Given the description of an element on the screen output the (x, y) to click on. 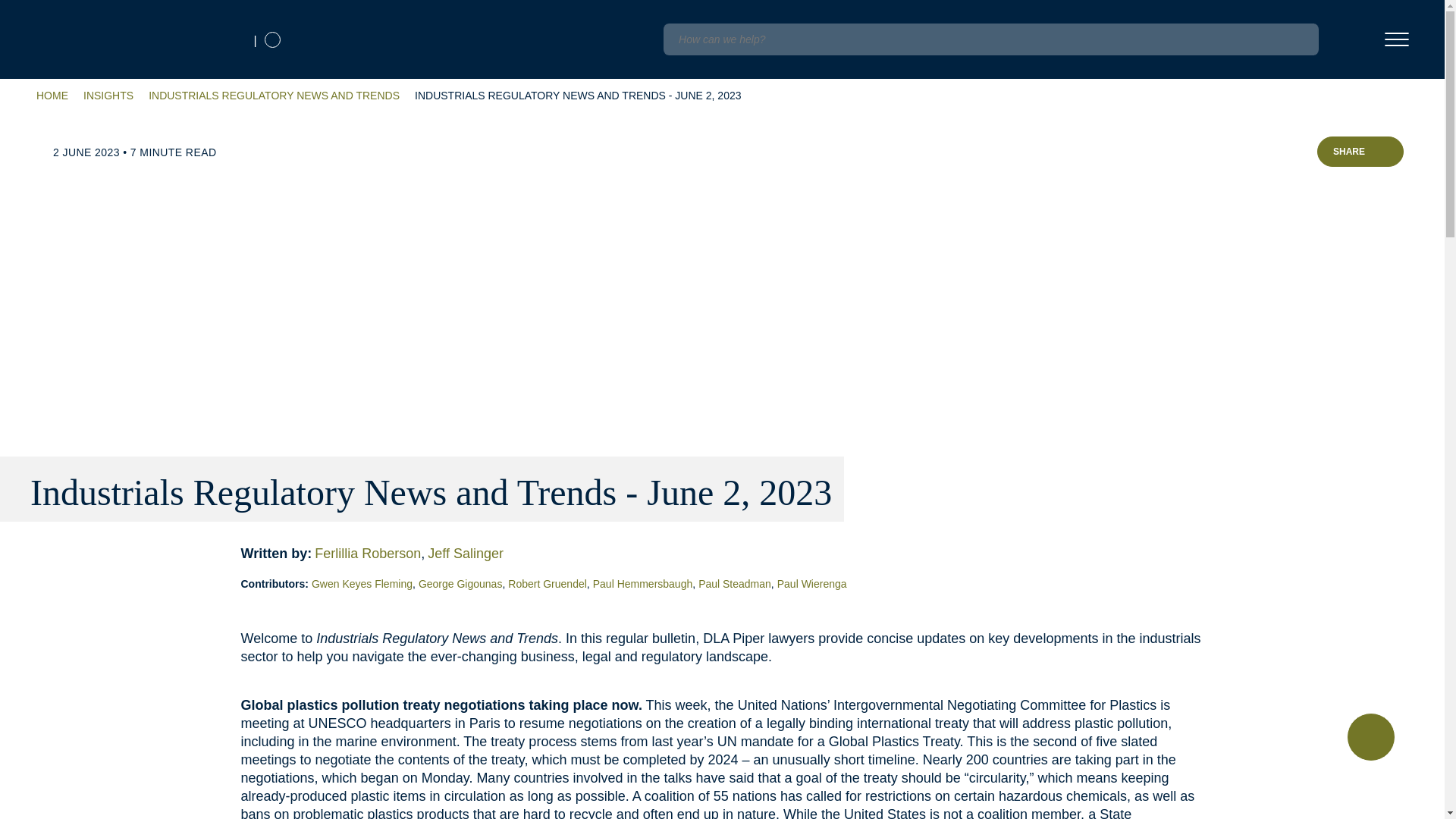
Jeff Salinger (467, 553)
Robert Gruendel (550, 583)
Gwen Keyes Fleming (365, 583)
George Gigounas (463, 583)
Ferlillia Roberson (371, 553)
INSIGHTS (107, 95)
Paul Hemmersbaugh (645, 583)
Paul Wierenga (813, 583)
Insert a query. Press enter to send (990, 39)
INDUSTRIALS REGULATORY NEWS AND TRENDS (273, 95)
Paul Steadman (737, 583)
HOME (52, 95)
